Given the description of an element on the screen output the (x, y) to click on. 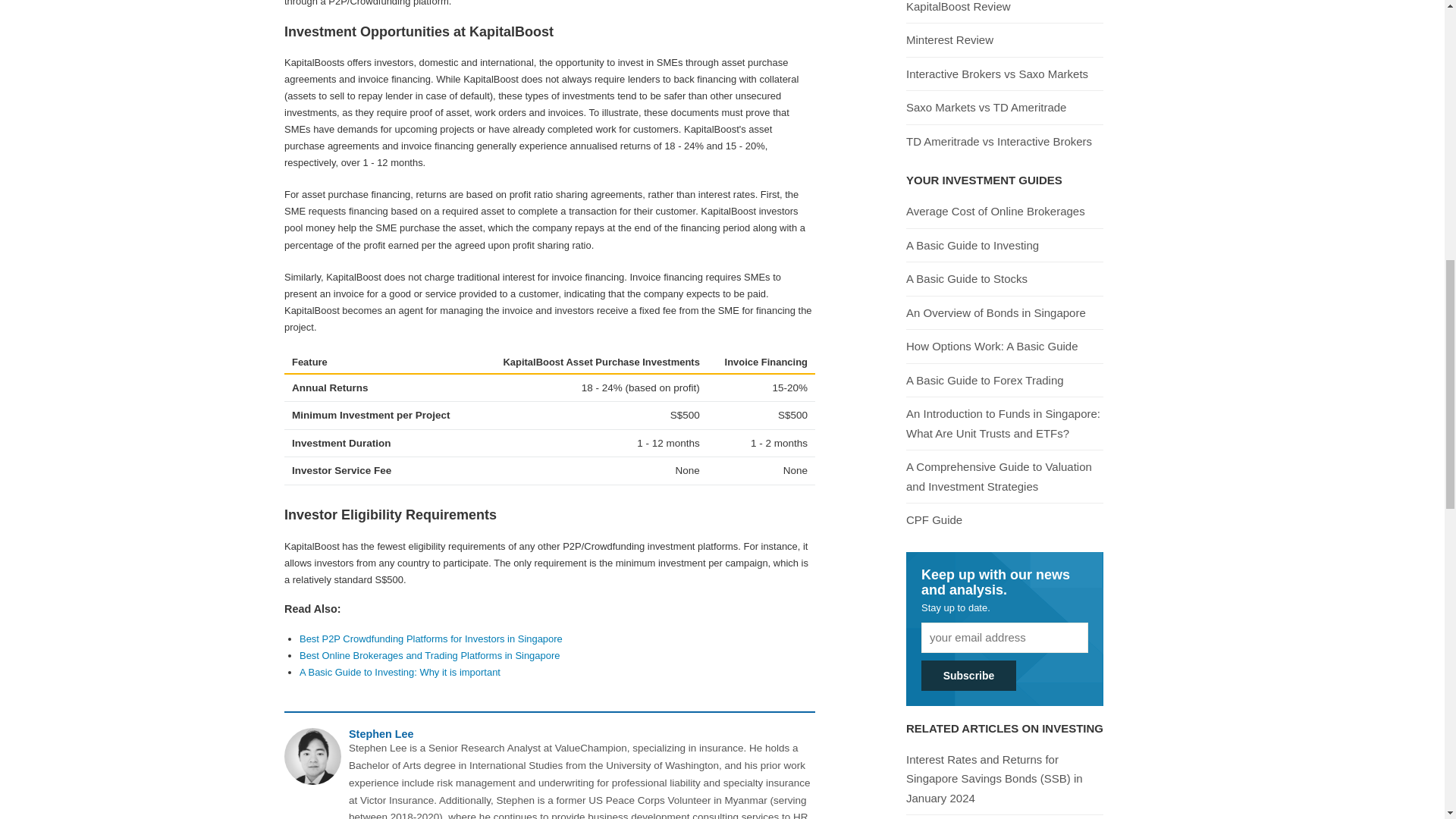
Best P2P Crowdfunding Platforms for Investors in Singapore (430, 638)
A Basic Guide to Investing: Why it is important (399, 672)
Best Online Brokerages and Trading Platforms in Singapore (429, 655)
